Given the description of an element on the screen output the (x, y) to click on. 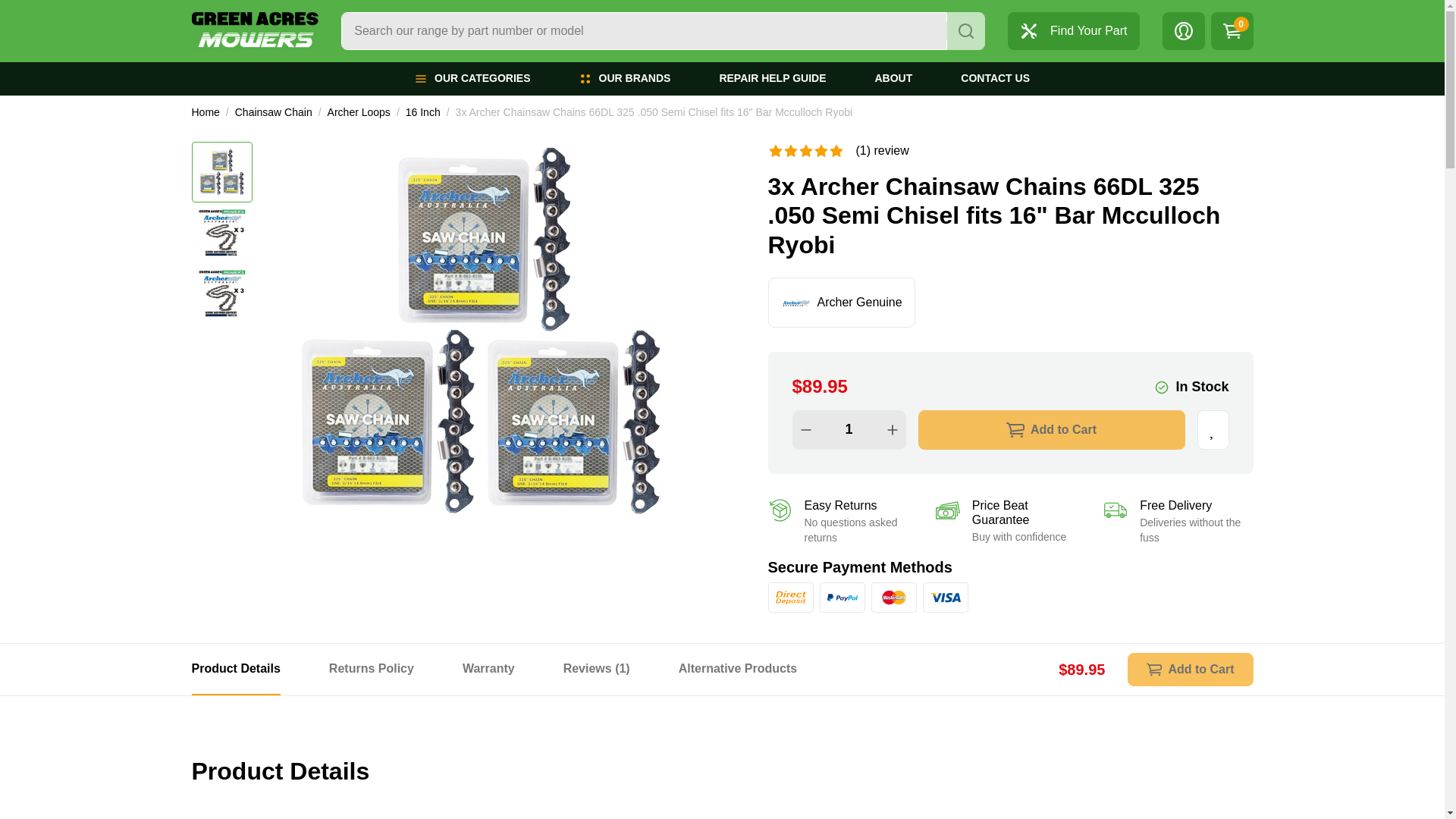
Archer Genuine (795, 302)
0 (1230, 30)
OUR CATEGORIES (472, 78)
Product Details (234, 669)
Find Your Part (1072, 30)
Alternative Products (737, 669)
Returns Policy (371, 669)
Search (966, 30)
Warranty (489, 669)
Green Acres Mowers (254, 30)
1 (848, 429)
